Given the description of an element on the screen output the (x, y) to click on. 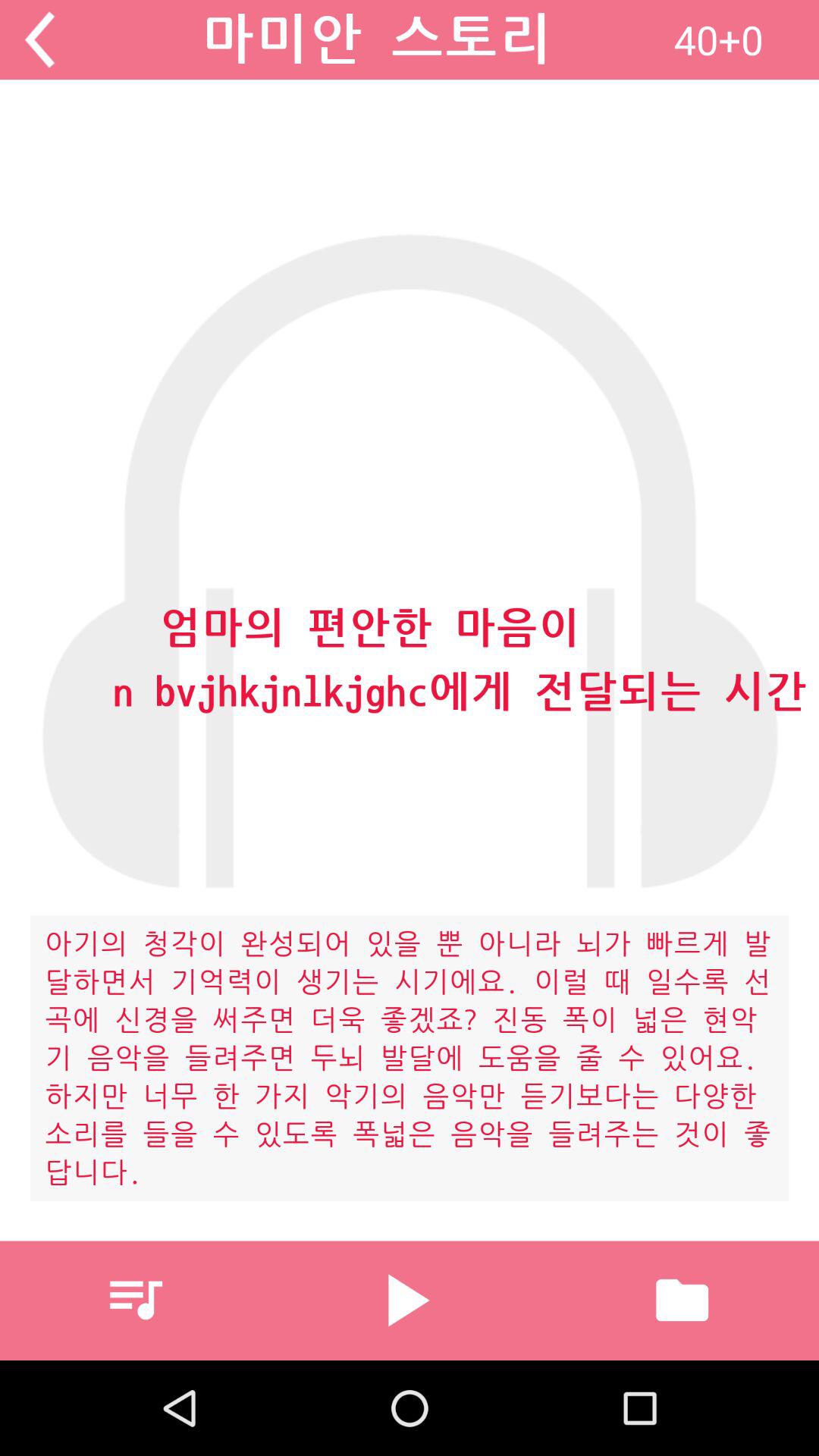
turn off item at the top left corner (39, 39)
